Given the description of an element on the screen output the (x, y) to click on. 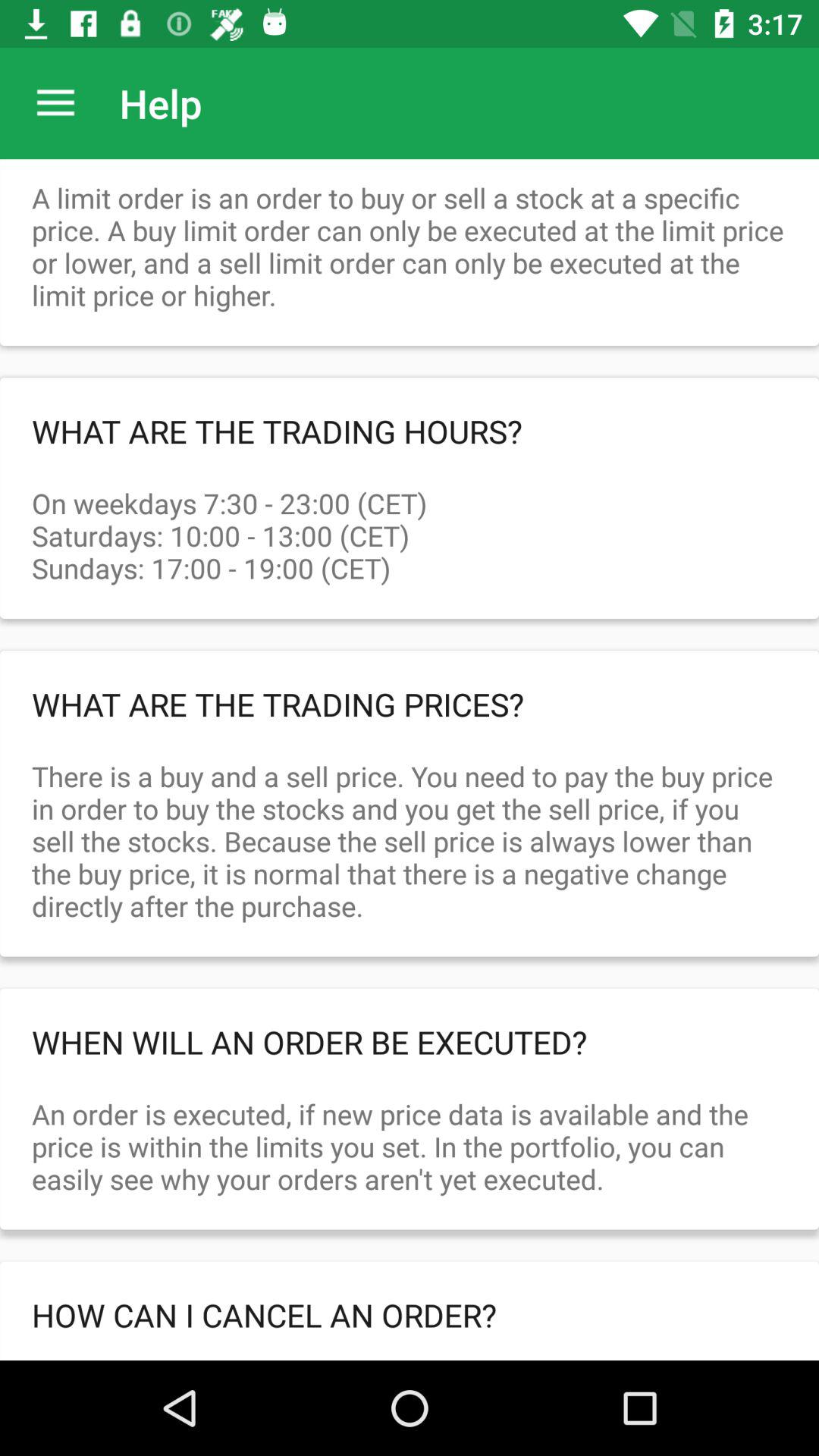
what are the trading prices (409, 703)
go to when will an order be executed (409, 1042)
